Given the description of an element on the screen output the (x, y) to click on. 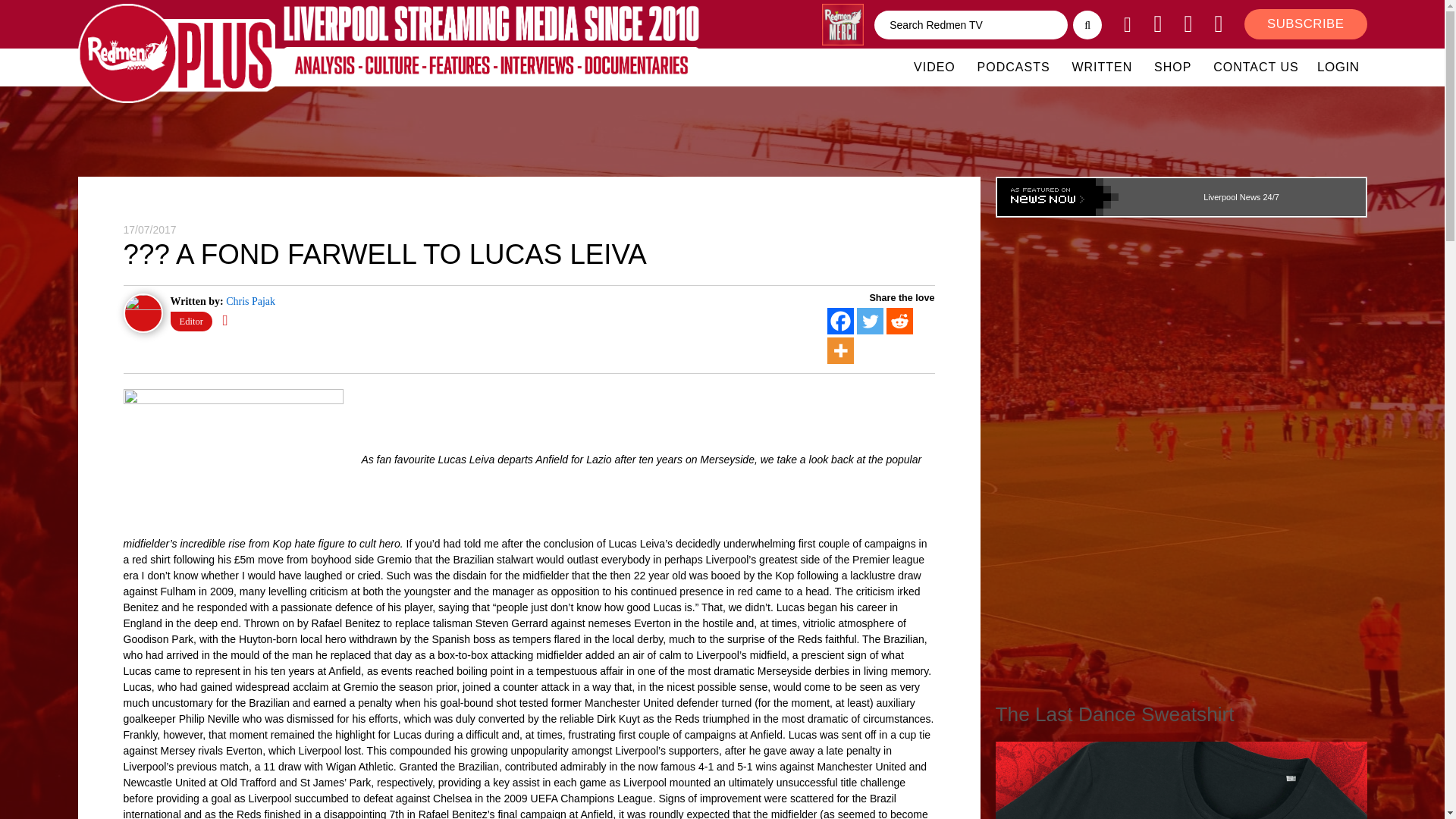
Posts by Chris Pajak (250, 301)
VIDEO (934, 67)
Twitter (870, 320)
Reddit (898, 320)
SHOP (1172, 67)
WRITTEN (1101, 67)
CONTACT US (1255, 67)
Facebook (840, 320)
LOGIN (1337, 67)
Chris Pajak (250, 301)
